Given the description of an element on the screen output the (x, y) to click on. 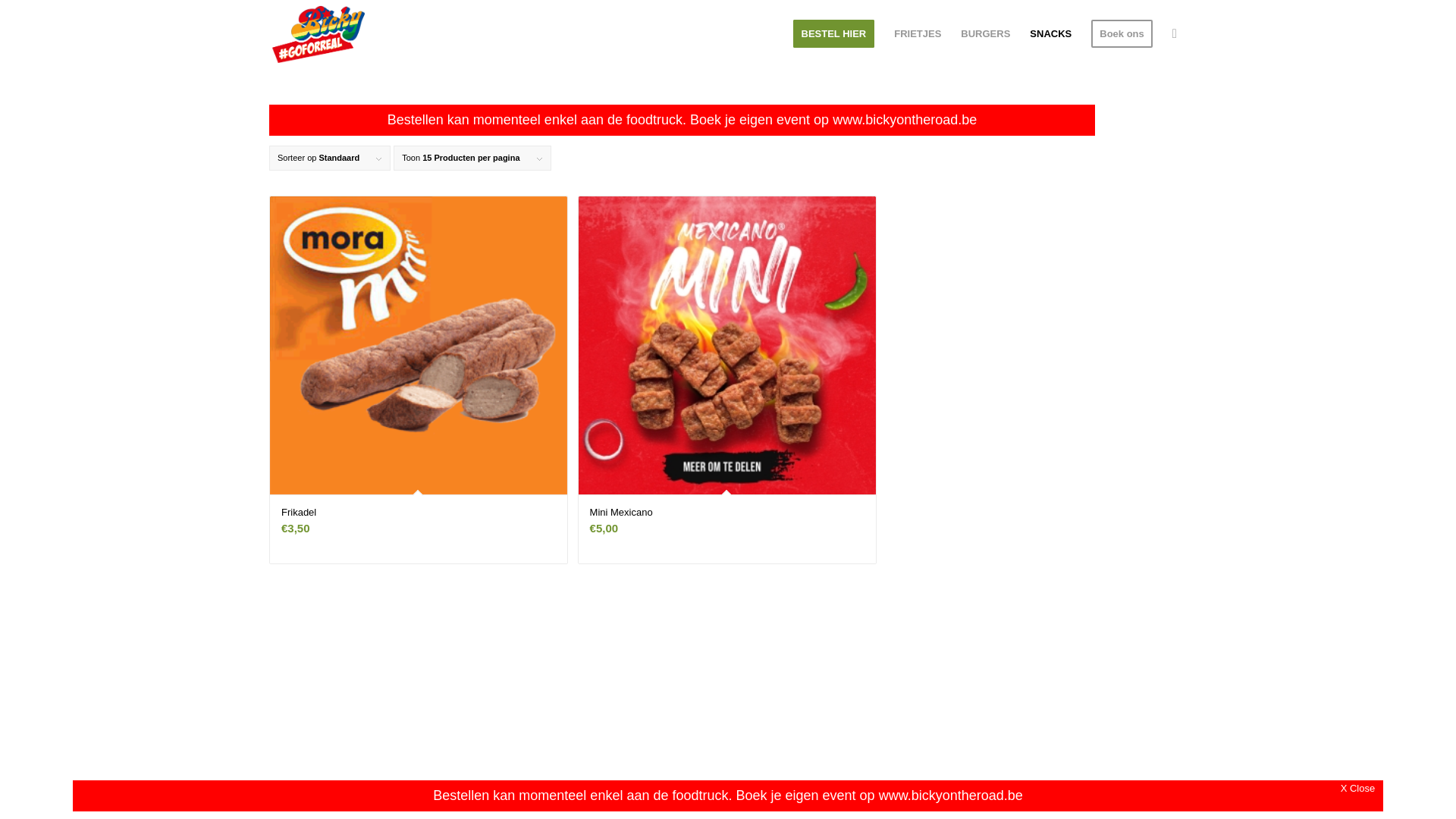
Boek ons Element type: text (1121, 34)
BURGERS Element type: text (984, 34)
SNACKS Element type: text (1050, 34)
BESTEL HIER Element type: text (833, 34)
FRIETJES Element type: text (917, 34)
